Given the description of an element on the screen output the (x, y) to click on. 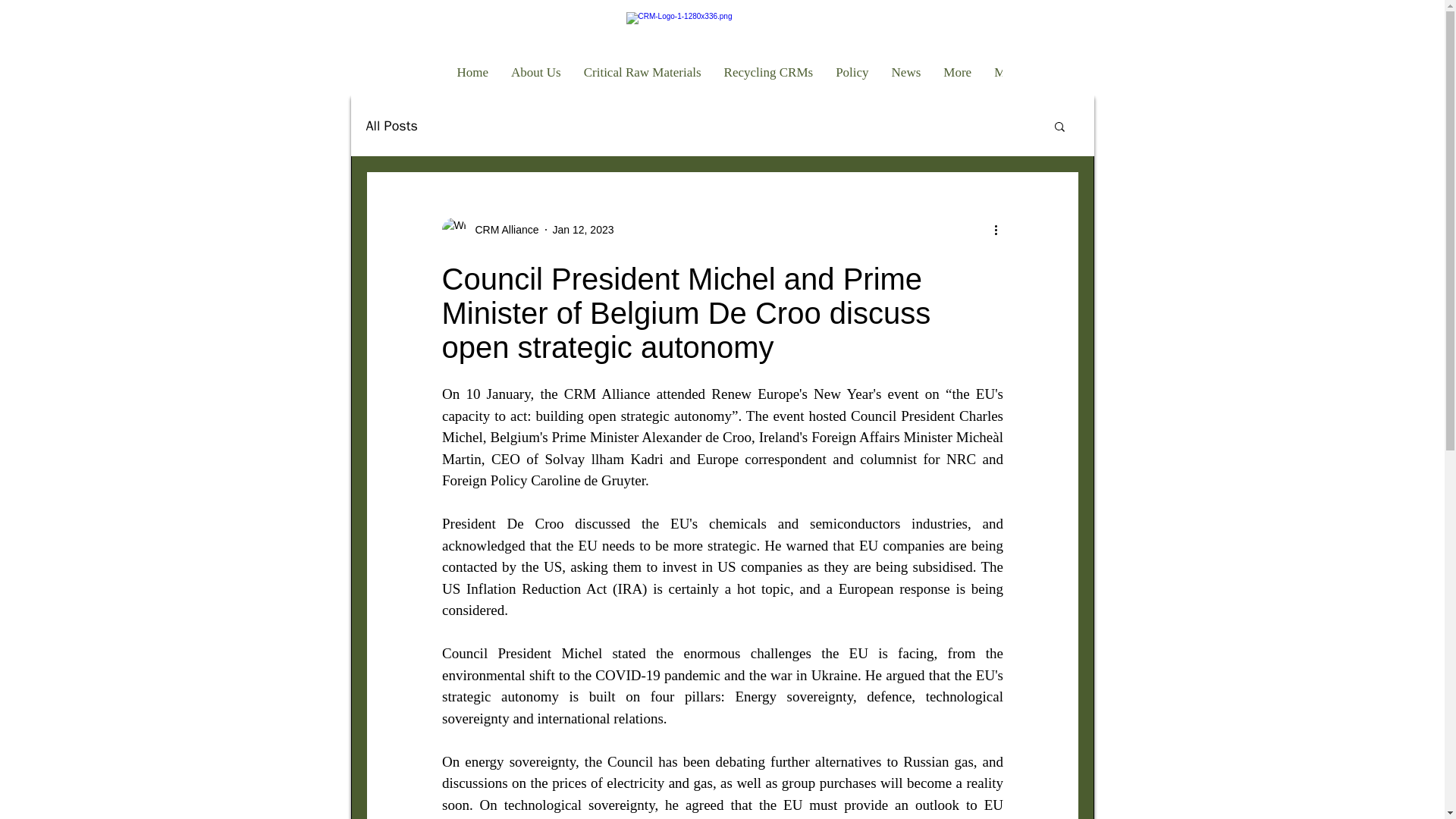
Policy (851, 82)
Jan 12, 2023 (583, 228)
About Us (535, 82)
CRM Alliance (501, 229)
Home (472, 82)
Recycling CRMs (769, 82)
Critical Raw Materials (642, 82)
